Given the description of an element on the screen output the (x, y) to click on. 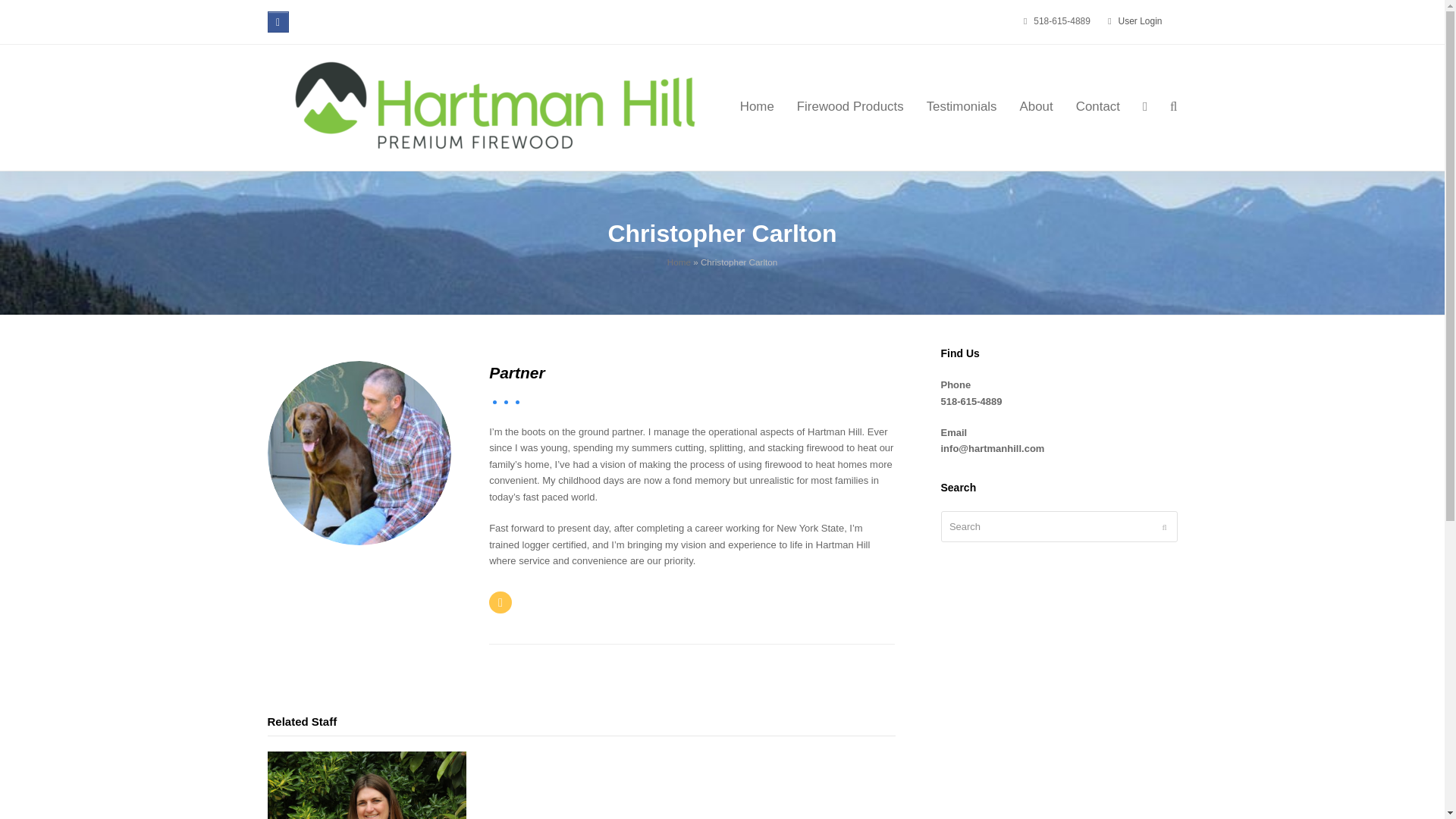
Firewood Products (850, 107)
Home (757, 107)
Contact (1097, 107)
Home (678, 261)
Facebook (277, 21)
Testimonials (962, 107)
User Login (1139, 20)
Email (500, 602)
Facebook (277, 21)
About (1036, 107)
